Given the description of an element on the screen output the (x, y) to click on. 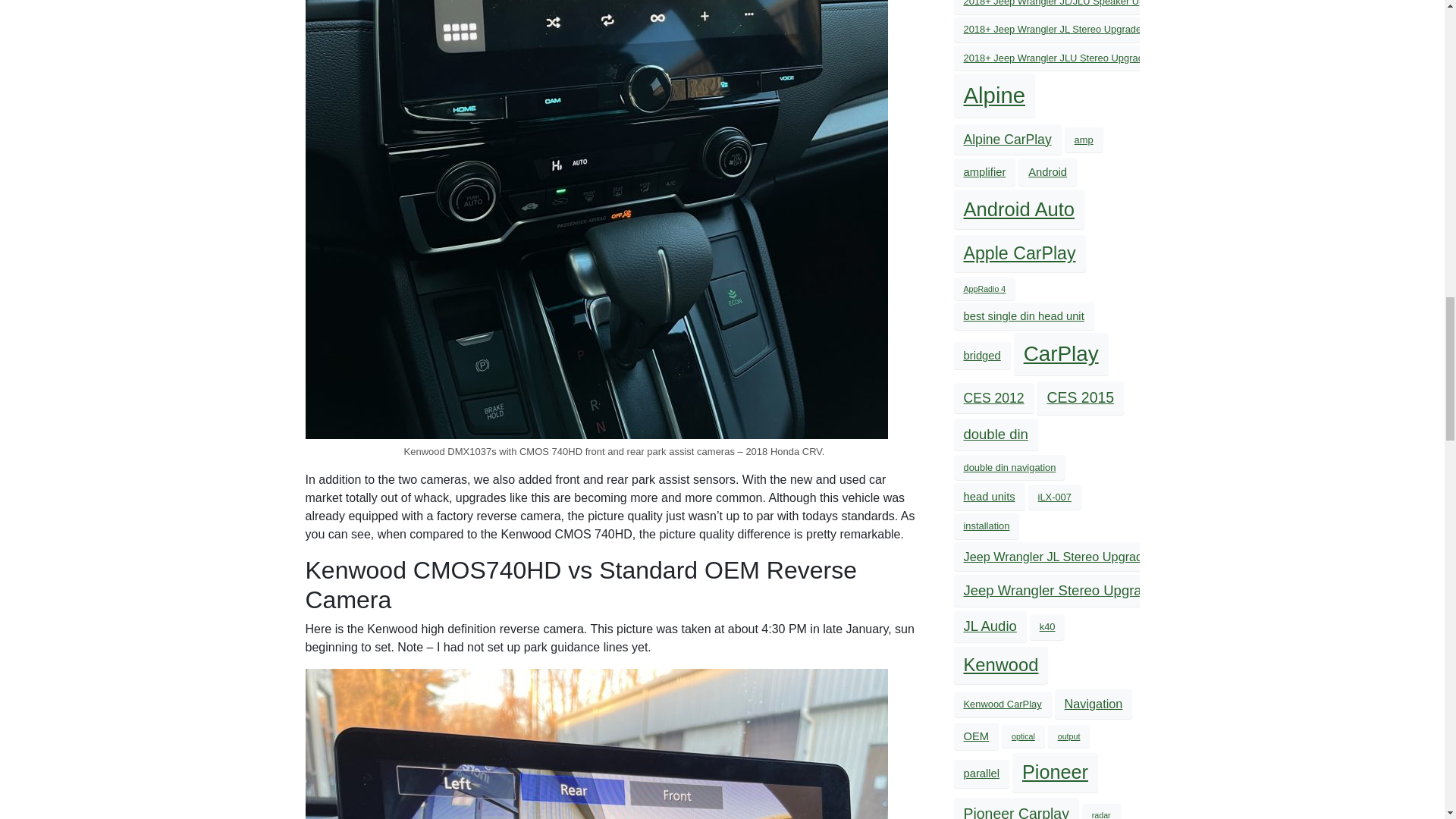
Kenwood CMOS-740HD camera picture quality (595, 744)
